Given the description of an element on the screen output the (x, y) to click on. 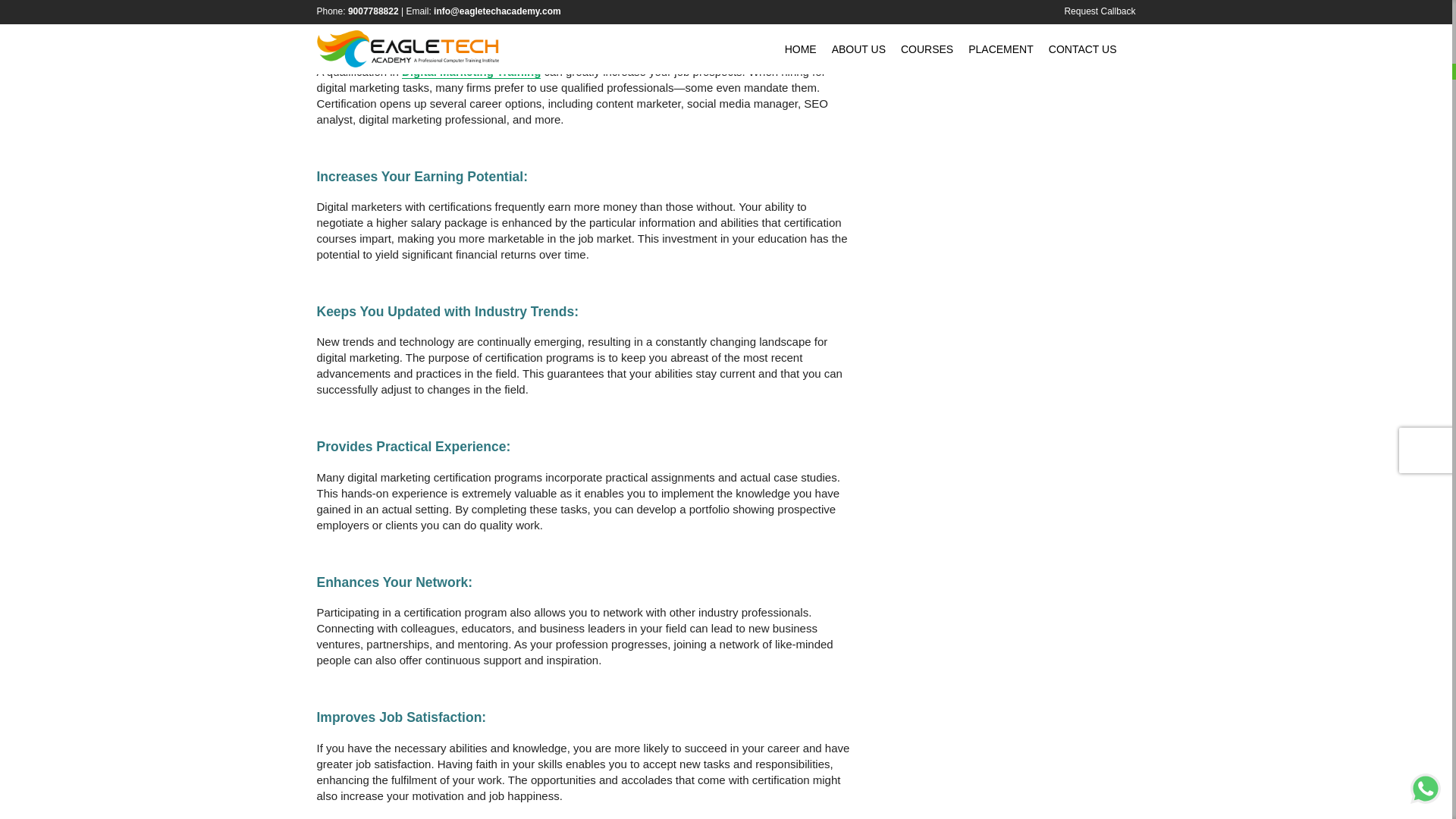
Digital Marketing Training (470, 71)
